Given the description of an element on the screen output the (x, y) to click on. 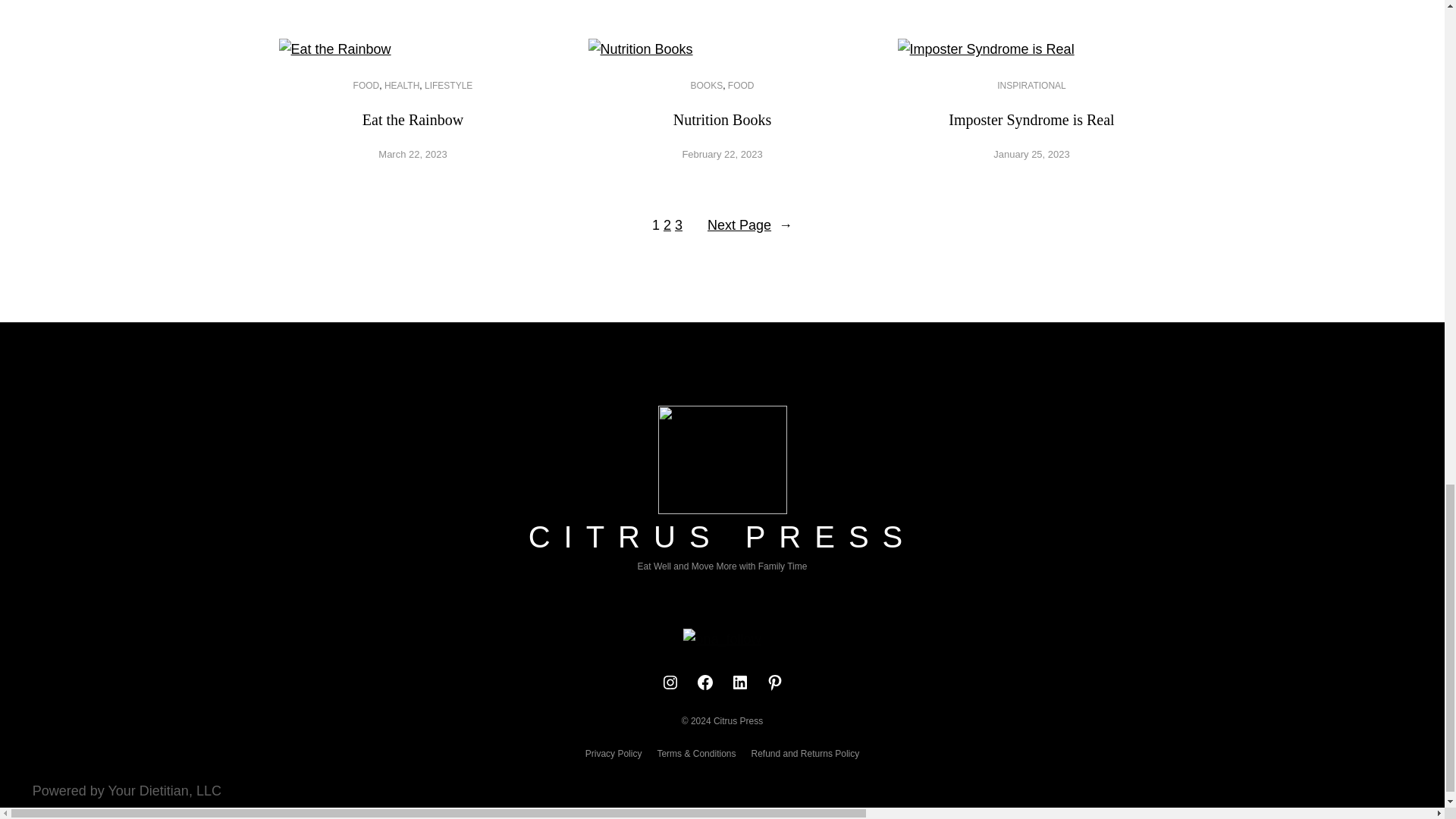
LIFESTYLE (448, 85)
FOOD (366, 85)
Eat the Rainbow (412, 119)
HEALTH (401, 85)
